Given the description of an element on the screen output the (x, y) to click on. 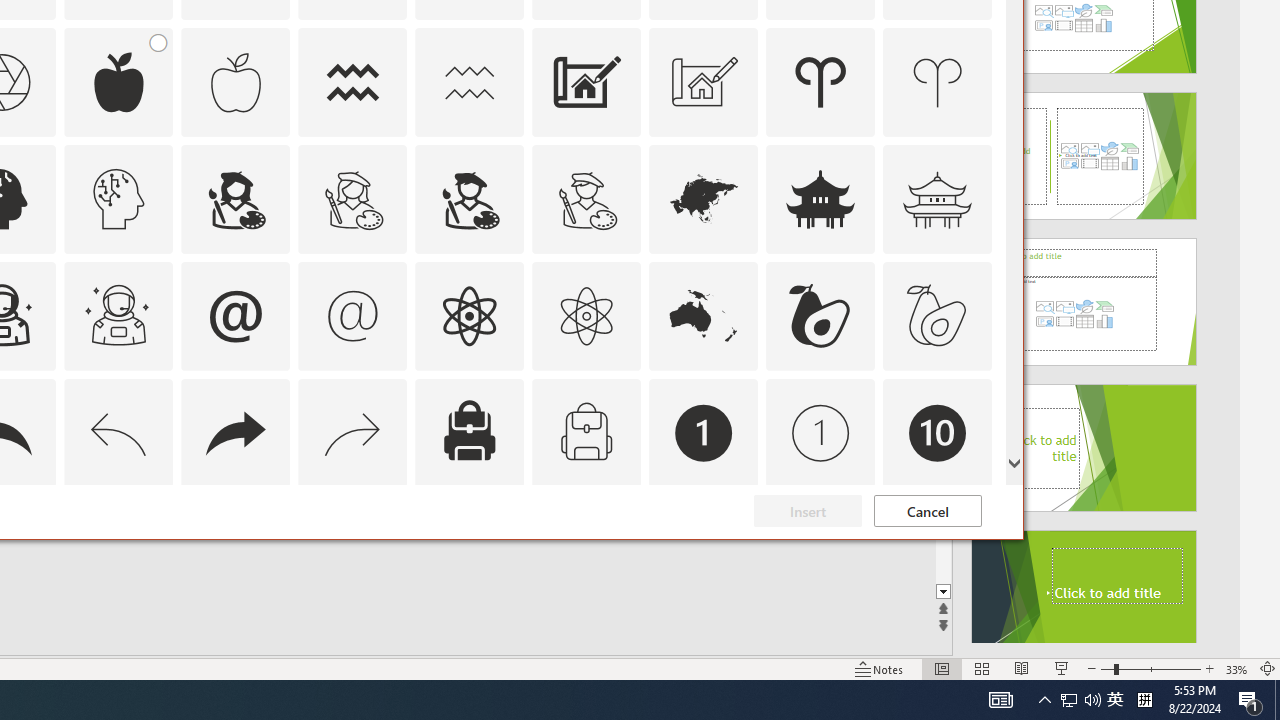
AutomationID: Icons_AstronautMale_M (118, 316)
AutomationID: Icons_Aries (820, 82)
AutomationID: Icons_Badge9 (820, 550)
AutomationID: Icons_Badge1_M (820, 432)
Zoom 33% (1236, 668)
